Given the description of an element on the screen output the (x, y) to click on. 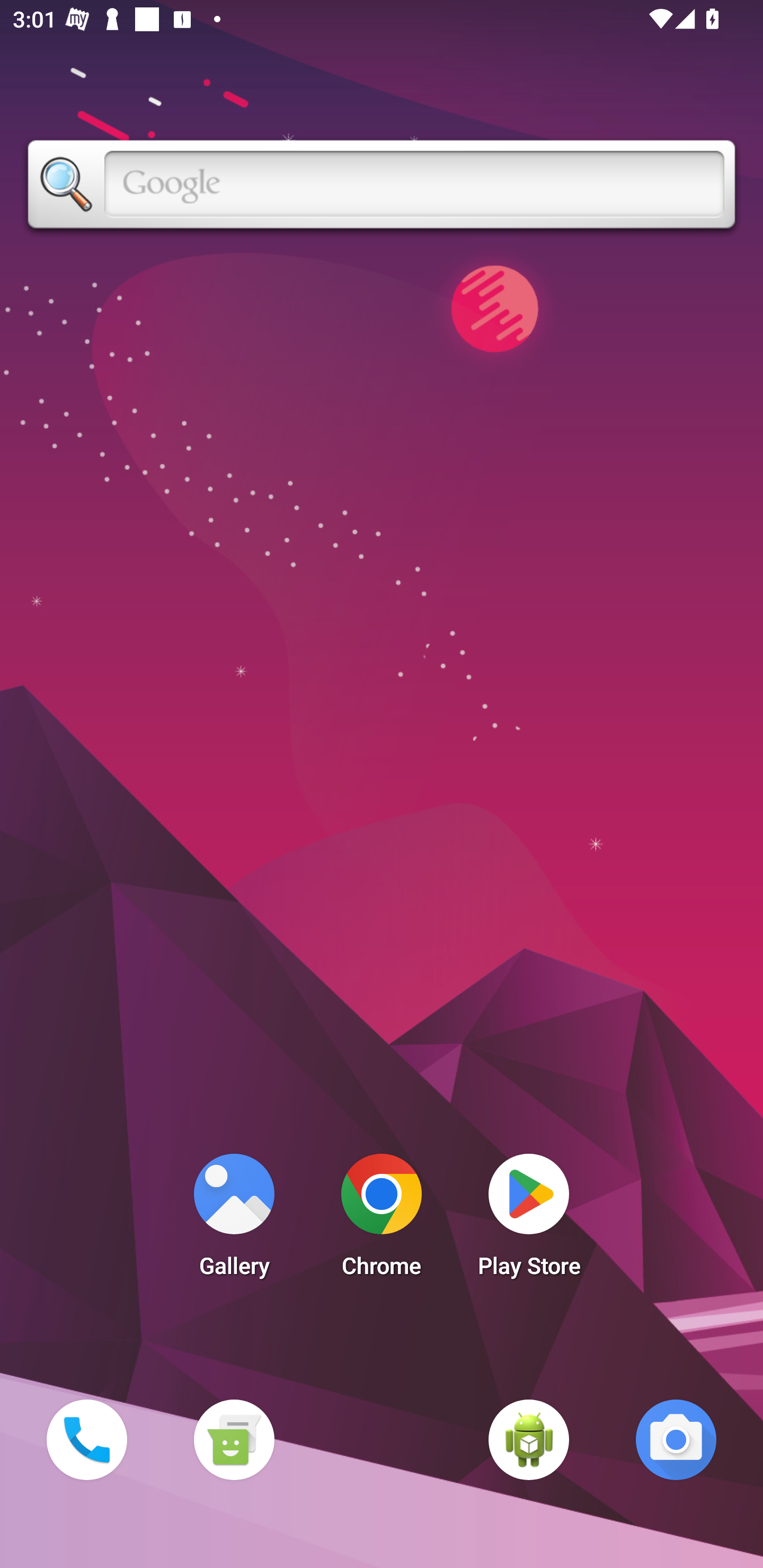
Gallery (233, 1220)
Chrome (381, 1220)
Play Store (528, 1220)
Phone (86, 1439)
Messaging (233, 1439)
WebView Browser Tester (528, 1439)
Camera (676, 1439)
